Given the description of an element on the screen output the (x, y) to click on. 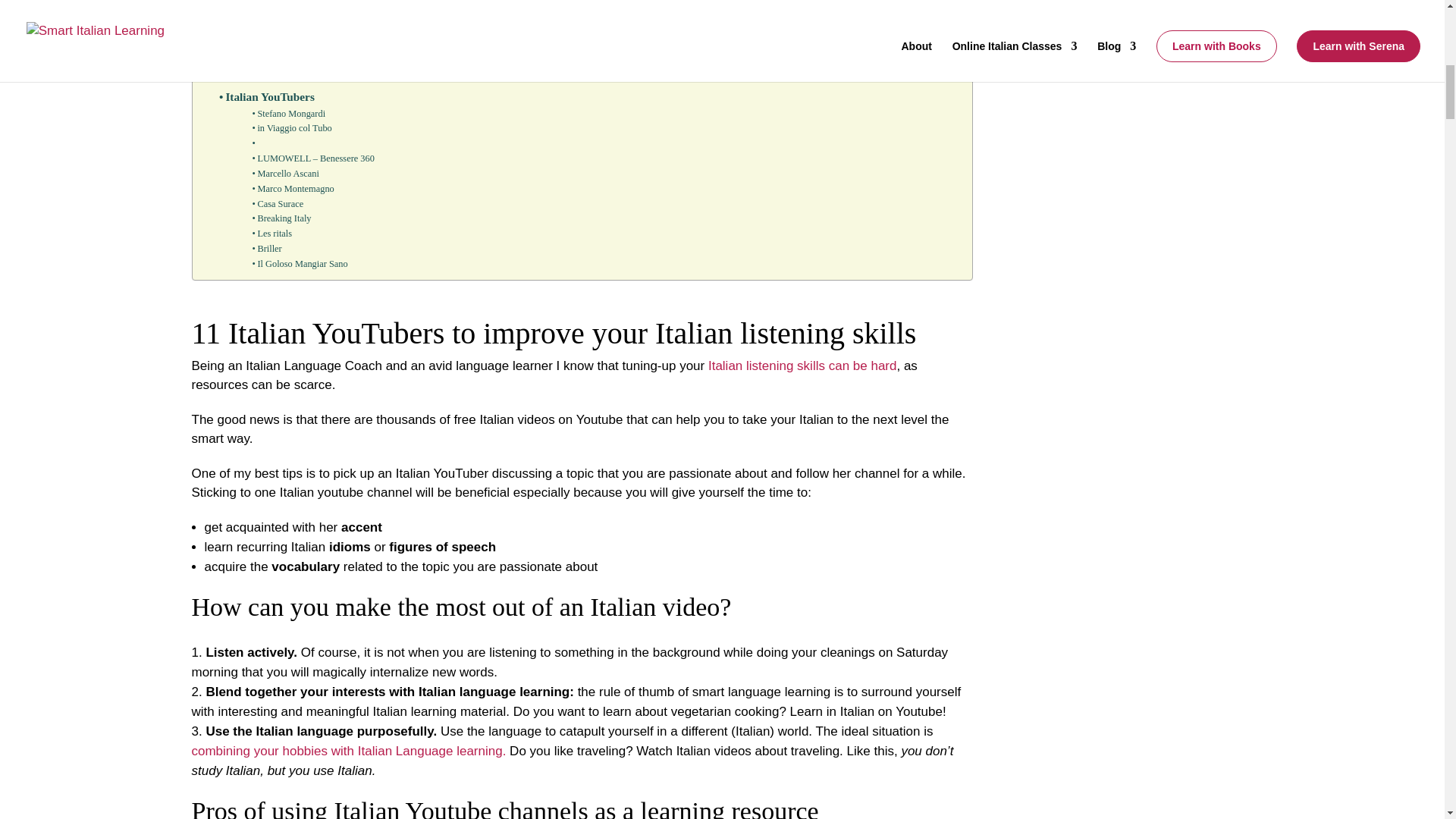
Marcello Ascani (284, 174)
Italian YouTubers  (268, 96)
Marco Montemagno (292, 189)
How can you make the most out of an Italian video? (351, 43)
in Viaggio col Tubo (291, 128)
Marco Montemagno (292, 189)
combining your hobbies with Italian Language learning. (347, 750)
Casa Surace (277, 204)
How can you make the most out of an Italian video? (351, 43)
Les ritals (271, 233)
